Given the description of an element on the screen output the (x, y) to click on. 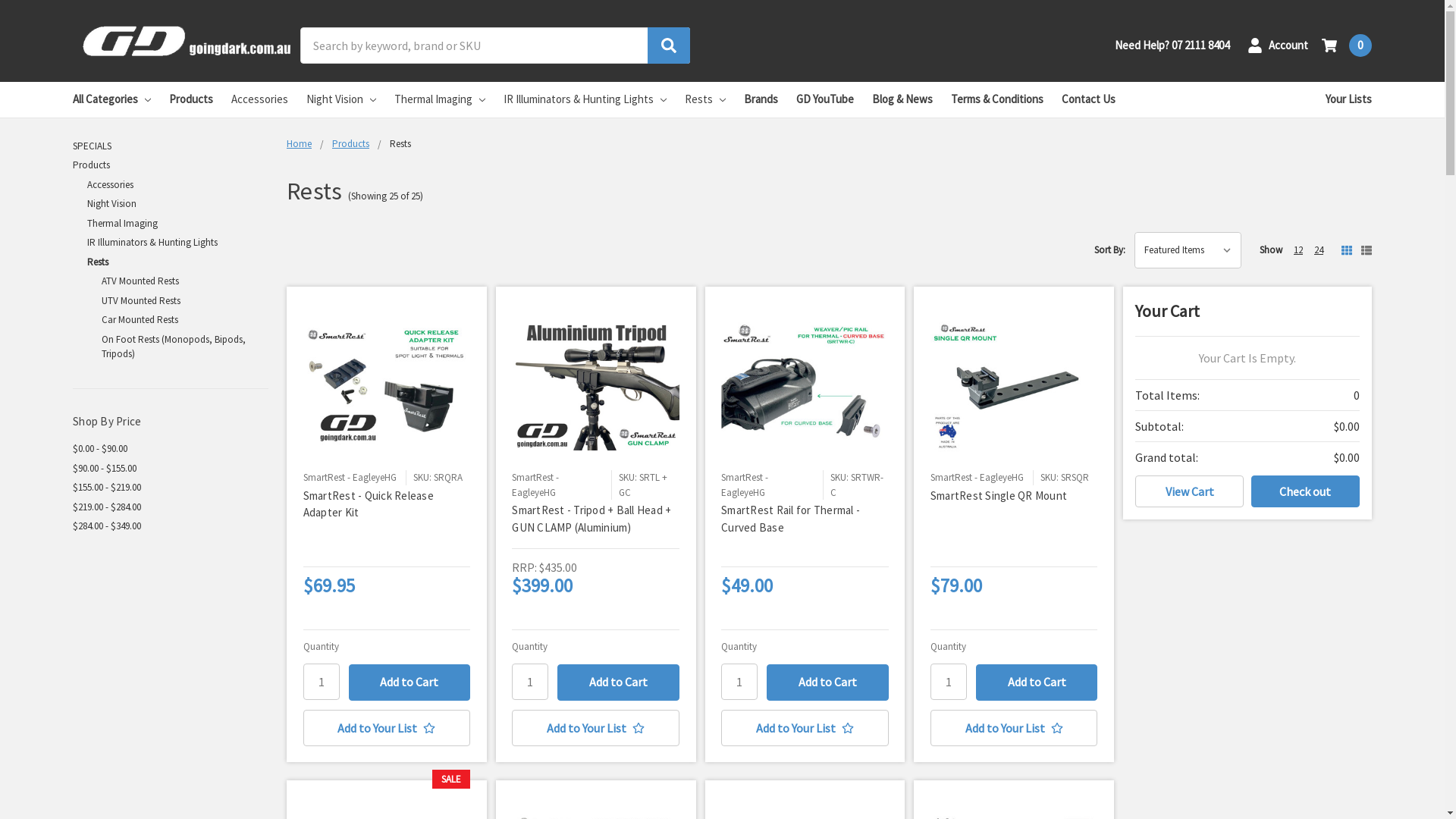
Add to Your List Element type: text (1014, 727)
Home Element type: text (298, 142)
SmartRest Single QR Mount Element type: text (998, 495)
Thermal Imaging Element type: text (439, 99)
View Cart Element type: text (1189, 491)
Add to Cart Element type: text (618, 682)
$155.00 - $219.00 Element type: text (170, 487)
Add to Cart Element type: text (1036, 682)
SPECIALS Element type: text (170, 146)
Add to Cart Element type: text (409, 682)
Need Help? 07 2111 8404 Element type: text (1171, 45)
SmartRest - Quick Release Adapter Kit - GoingDark Element type: hover (386, 385)
Products Element type: text (170, 165)
Add to Your List Element type: text (595, 727)
Your Lists Element type: text (1348, 99)
ATV Mounted Rests Element type: text (184, 281)
Check out Element type: text (1305, 491)
Account Element type: text (1277, 45)
Going Dark - APEX Status Element type: hover (187, 40)
Accessories Element type: text (177, 184)
Terms & Conditions Element type: text (996, 99)
Night Vision Element type: text (177, 203)
Add to Cart Element type: text (827, 682)
12 Element type: text (1297, 249)
IR Illuminators & Hunting Lights Element type: text (584, 99)
All Categories Element type: text (111, 99)
Thermal Imaging Element type: text (177, 223)
Night Vision Element type: text (341, 99)
Brands Element type: text (760, 99)
24 Element type: text (1318, 249)
Car Mounted Rests Element type: text (184, 319)
SmartRest - Tripod + Ball Head + GUN CLAMP (Aluminium) Element type: text (591, 518)
Rests Element type: text (704, 99)
IR Illuminators & Hunting Lights Element type: text (177, 242)
0 Element type: text (1346, 45)
$219.00 - $284.00 Element type: text (170, 507)
SmartRest Rail for Thermal - Curved Base Element type: text (790, 518)
Blog & News Element type: text (901, 99)
$0.00 - $90.00 Element type: text (170, 448)
On Foot Rests (Monopods, Bipods, Tripods) Element type: text (184, 346)
Add to Your List Element type: text (804, 727)
SmartRest Rail for Thermal - Curved Base - Image 3 Element type: hover (804, 386)
Accessories Element type: text (259, 99)
SmartRest - Quick Release Adapter Kit Element type: text (368, 504)
Add to Your List Element type: text (386, 727)
Rests Element type: text (177, 261)
$90.00 - $155.00 Element type: text (170, 467)
Products Element type: text (350, 142)
Contact Us Element type: text (1088, 99)
SmartRest Single QR Mount - GoingDark Element type: hover (1014, 386)
GD YouTube Element type: text (824, 99)
UTV Mounted Rests Element type: text (184, 300)
Products Element type: text (191, 99)
$284.00 - $349.00 Element type: text (170, 526)
